Given the description of an element on the screen output the (x, y) to click on. 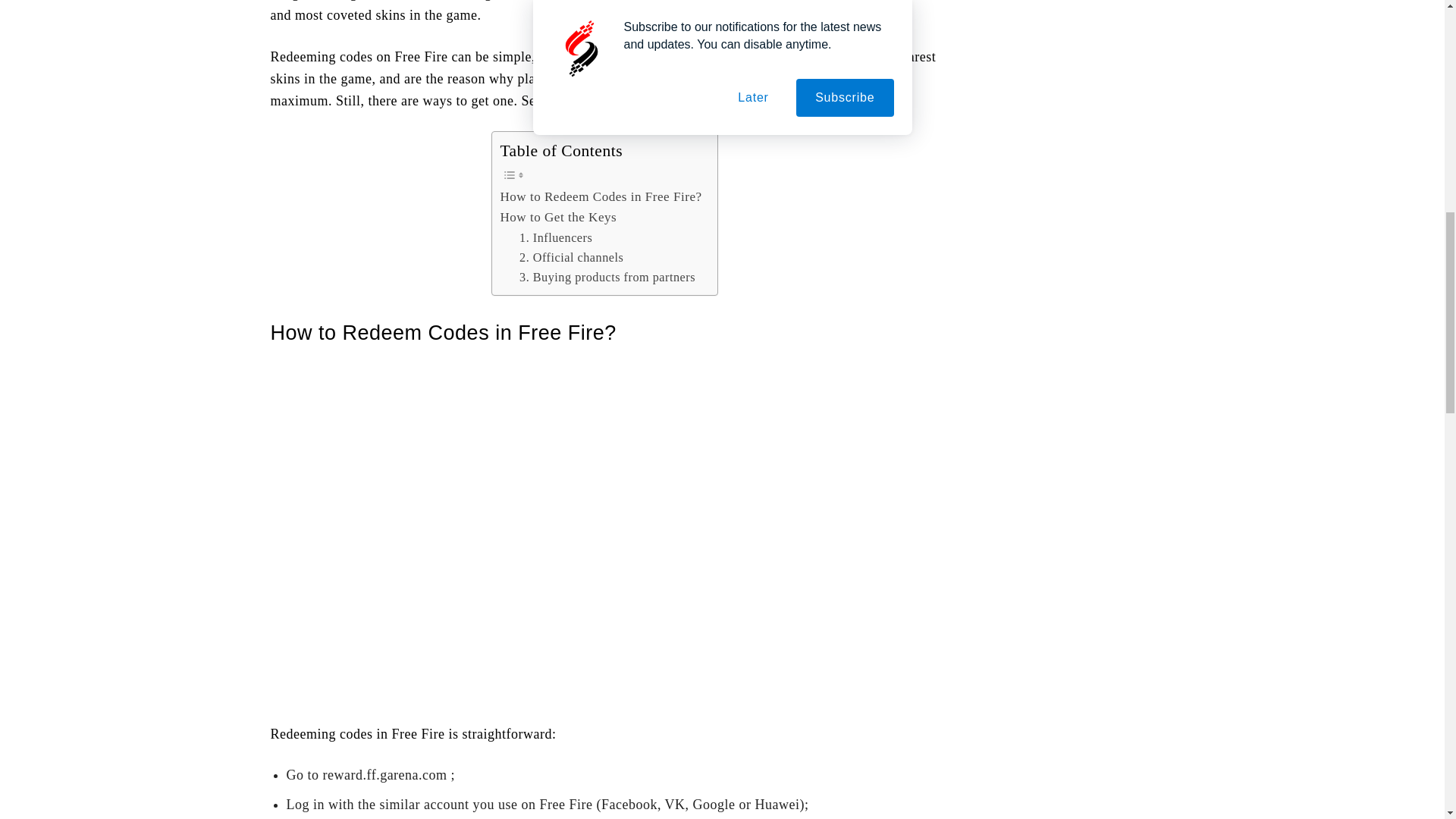
3. Buying products from partners (607, 277)
How to Get the Keys (557, 217)
How to Redeem Codes in Free Fire? (600, 196)
1. Influencers (555, 238)
How to Redeem Codes in Free Fire? (600, 196)
2. Official channels (571, 257)
How to Get the Keys (557, 217)
